Given the description of an element on the screen output the (x, y) to click on. 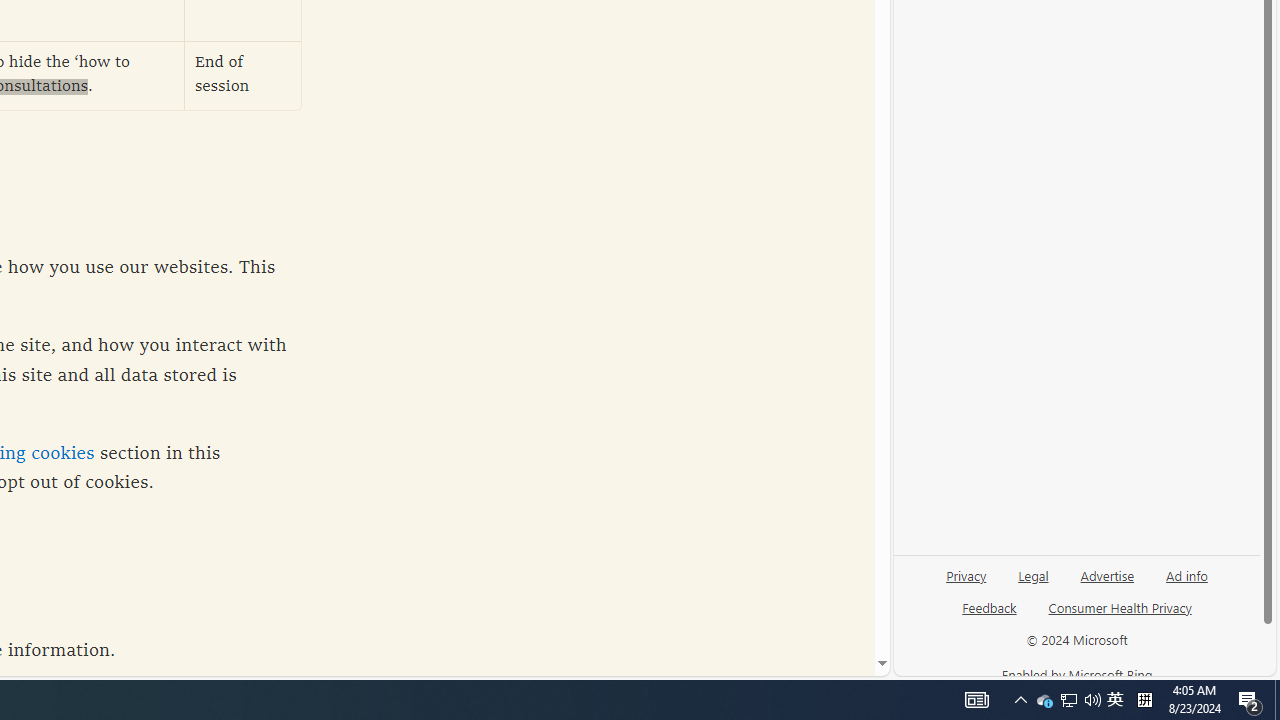
Feedback (988, 615)
Feedback (989, 607)
Consumer Health Privacy (1119, 607)
Advertise (1106, 583)
Privacy (966, 583)
Ad info (1187, 574)
Legal (1033, 574)
Advertise (1107, 574)
Ad info (1186, 583)
Privacy (965, 574)
Consumer Health Privacy (1119, 615)
End of session (243, 75)
Legal (1033, 583)
